Given the description of an element on the screen output the (x, y) to click on. 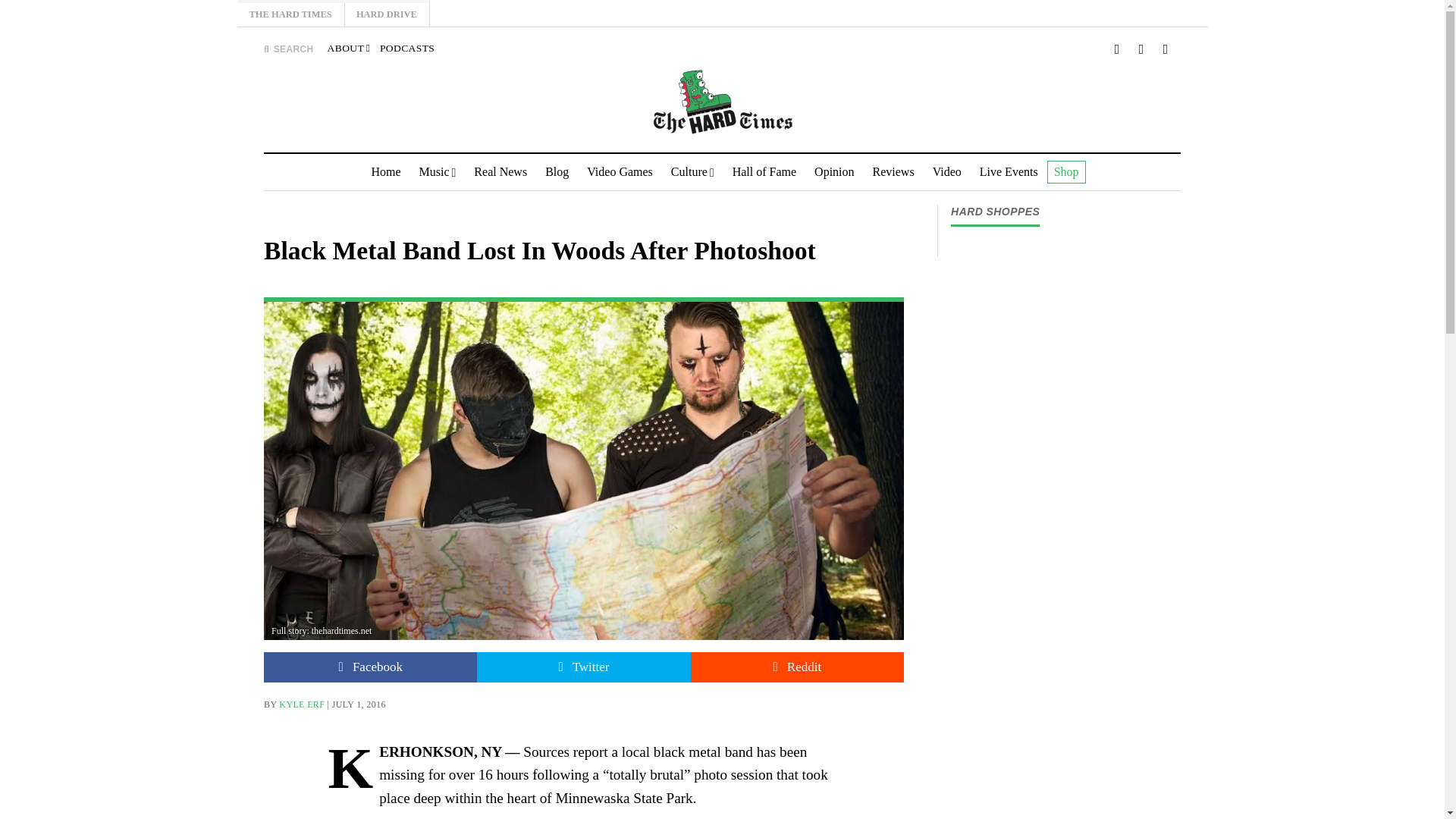
Home (385, 171)
Blog (556, 171)
Real News (499, 171)
Video Games (620, 171)
Search (943, 141)
ABOUT (349, 48)
Music (437, 171)
THE HARD TIMES (289, 14)
Posts by Kyle Erf (301, 704)
SEARCH (288, 48)
